Given the description of an element on the screen output the (x, y) to click on. 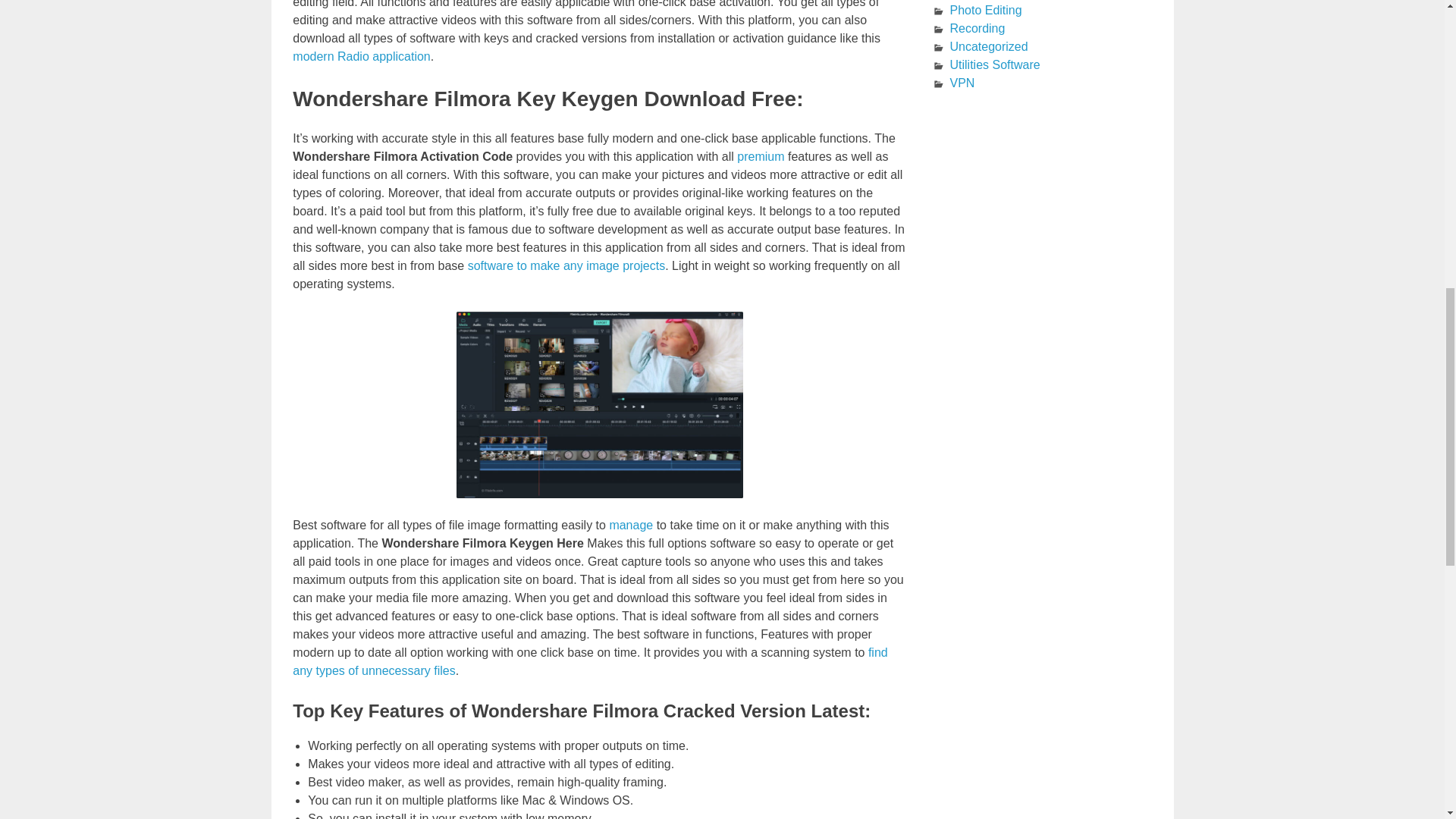
modern Radio application (360, 56)
premium (760, 155)
software to make any image projects (566, 265)
